Given the description of an element on the screen output the (x, y) to click on. 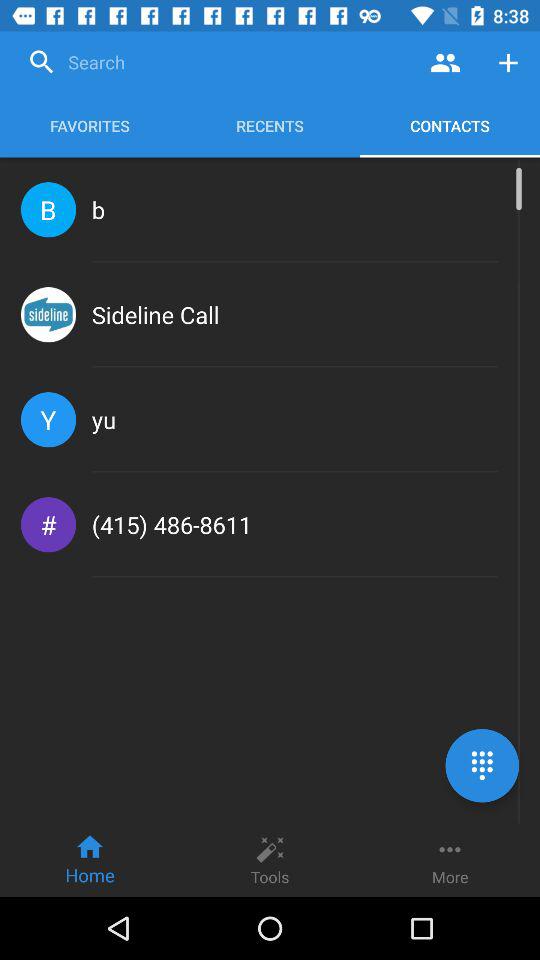
go to contacts list (445, 62)
